Given the description of an element on the screen output the (x, y) to click on. 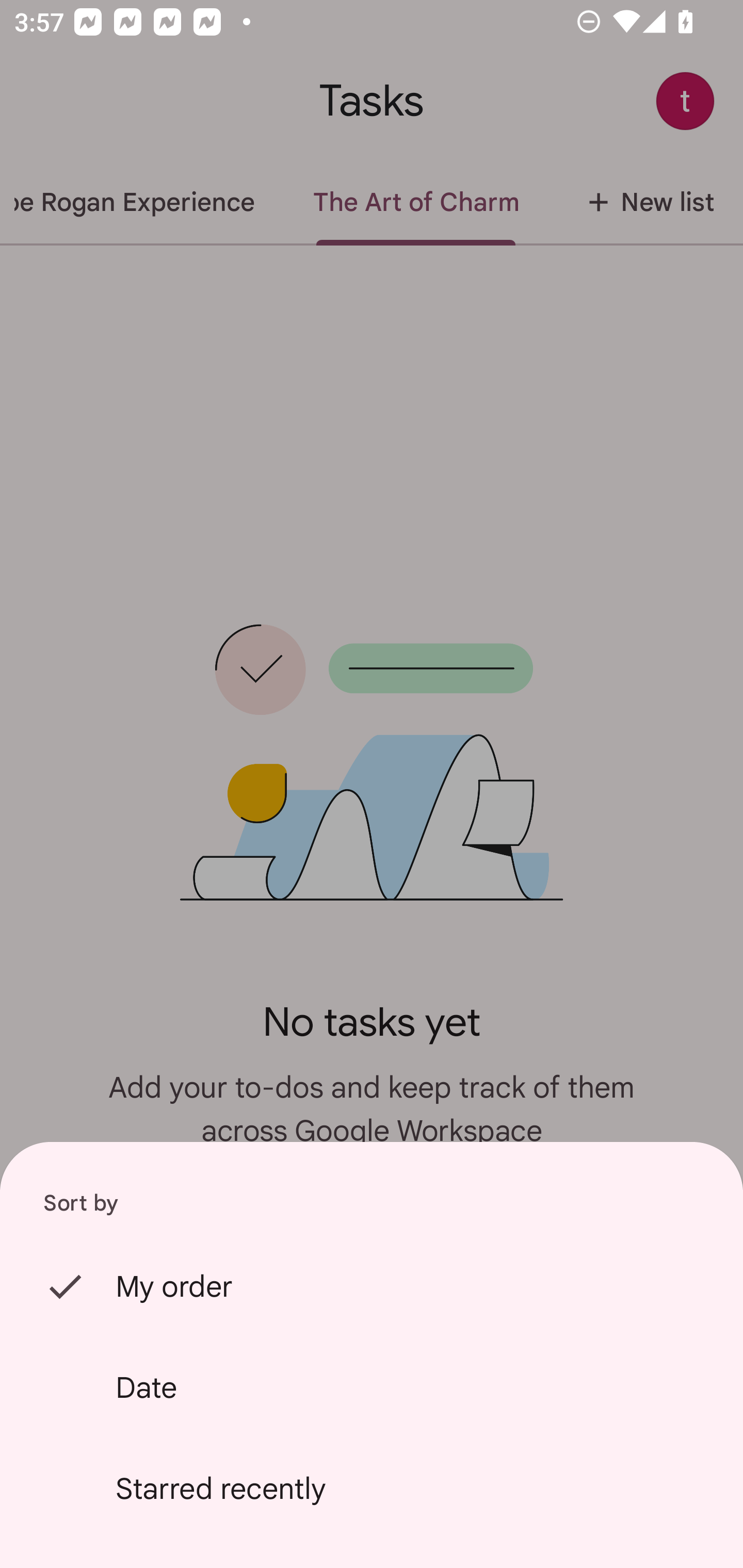
My order (371, 1286)
Date (371, 1387)
Starred recently (371, 1488)
